Given the description of an element on the screen output the (x, y) to click on. 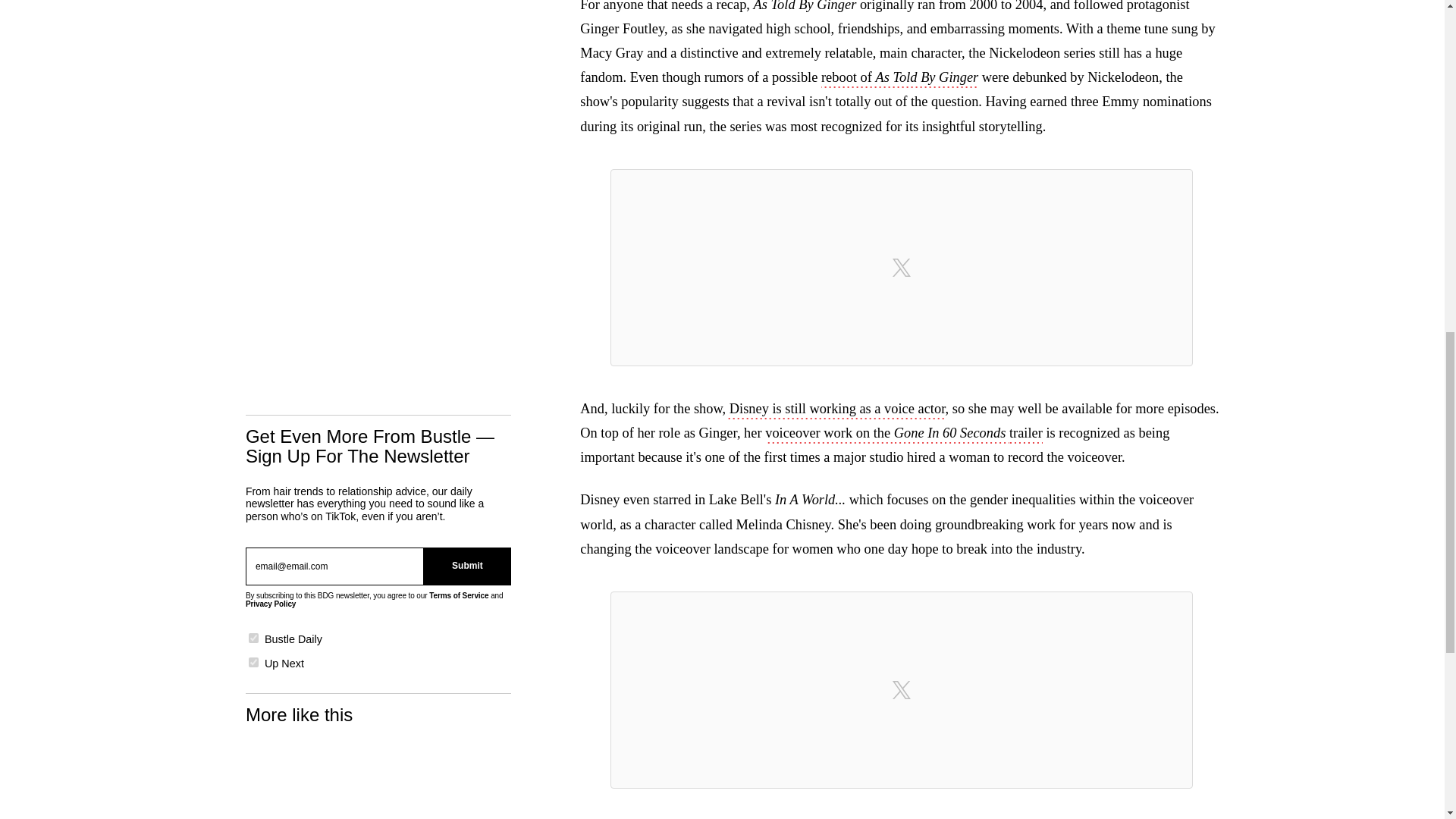
Privacy Policy (270, 603)
Submit (467, 566)
voiceover work on the (829, 434)
Disney is still working as a voice actor (834, 410)
reboot of As Told By Ginger (899, 78)
Gone In 60 Seconds (951, 434)
Terms of Service (458, 595)
trailer (1025, 434)
